Given the description of an element on the screen output the (x, y) to click on. 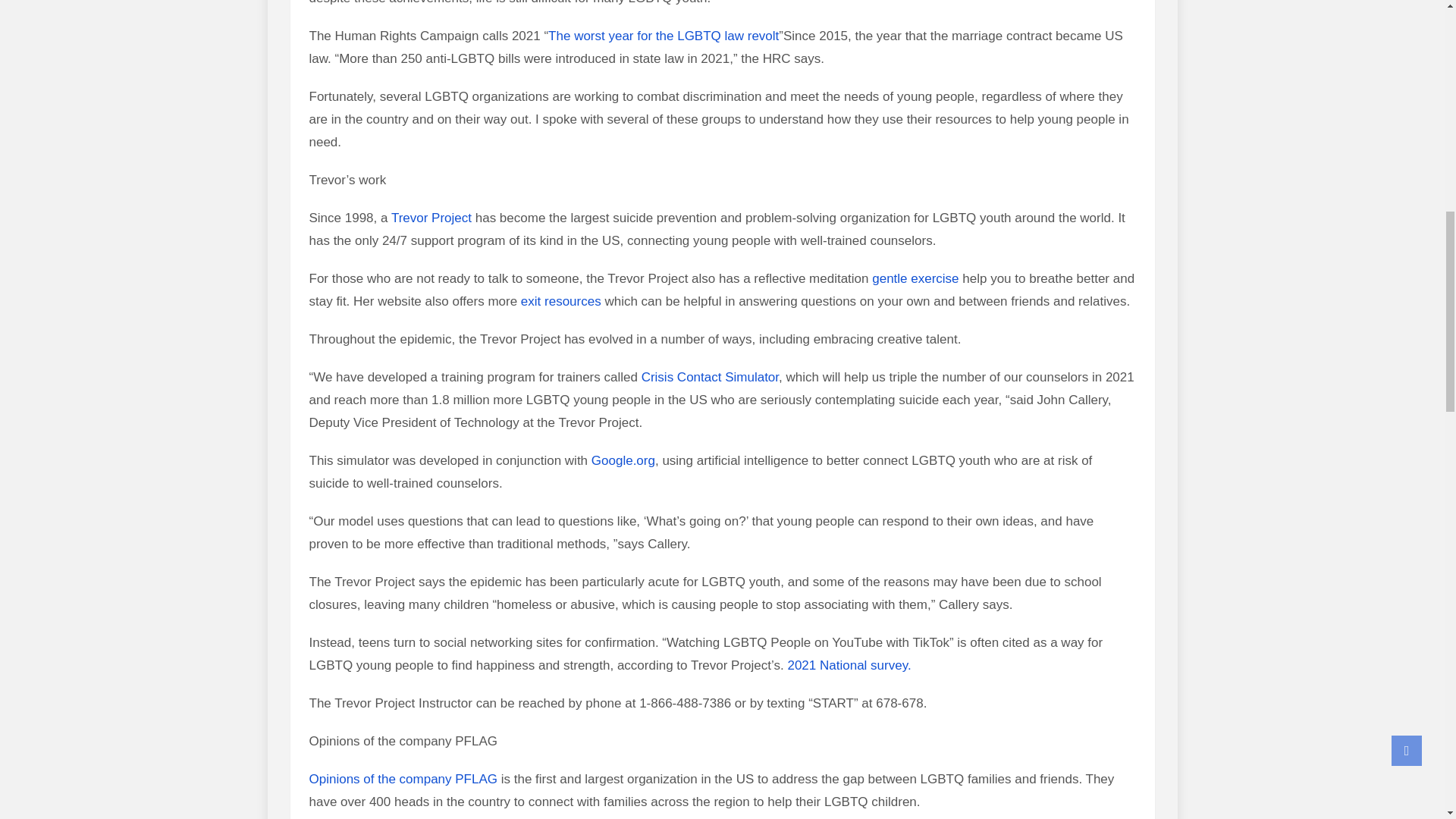
Google.org (623, 460)
exit resources (561, 301)
Crisis Contact Simulator (710, 377)
2021 National survey. (849, 665)
Opinions of the company PFLAG (402, 779)
The worst year for the LGBTQ law revolt (663, 35)
gentle exercise (915, 278)
Trevor Project (431, 217)
